Given the description of an element on the screen output the (x, y) to click on. 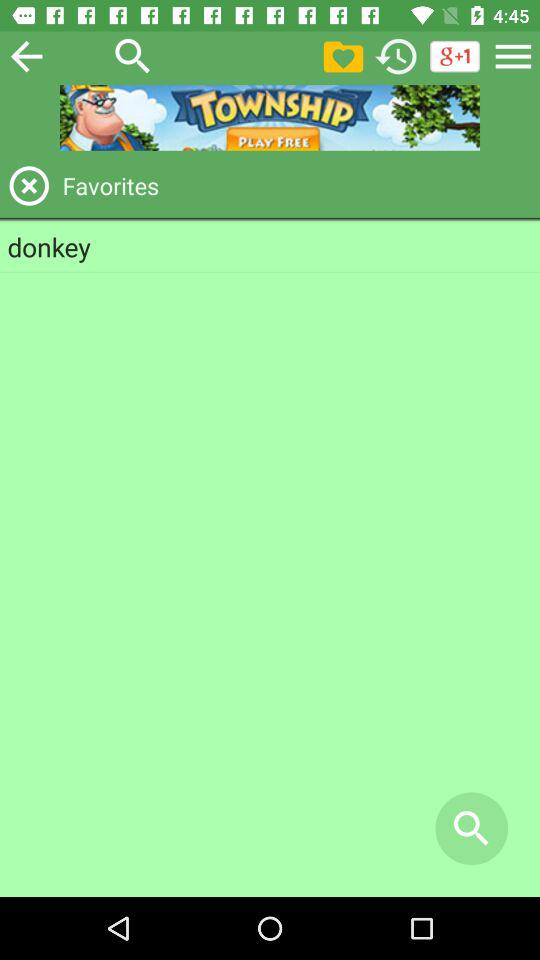
go back (26, 56)
